Given the description of an element on the screen output the (x, y) to click on. 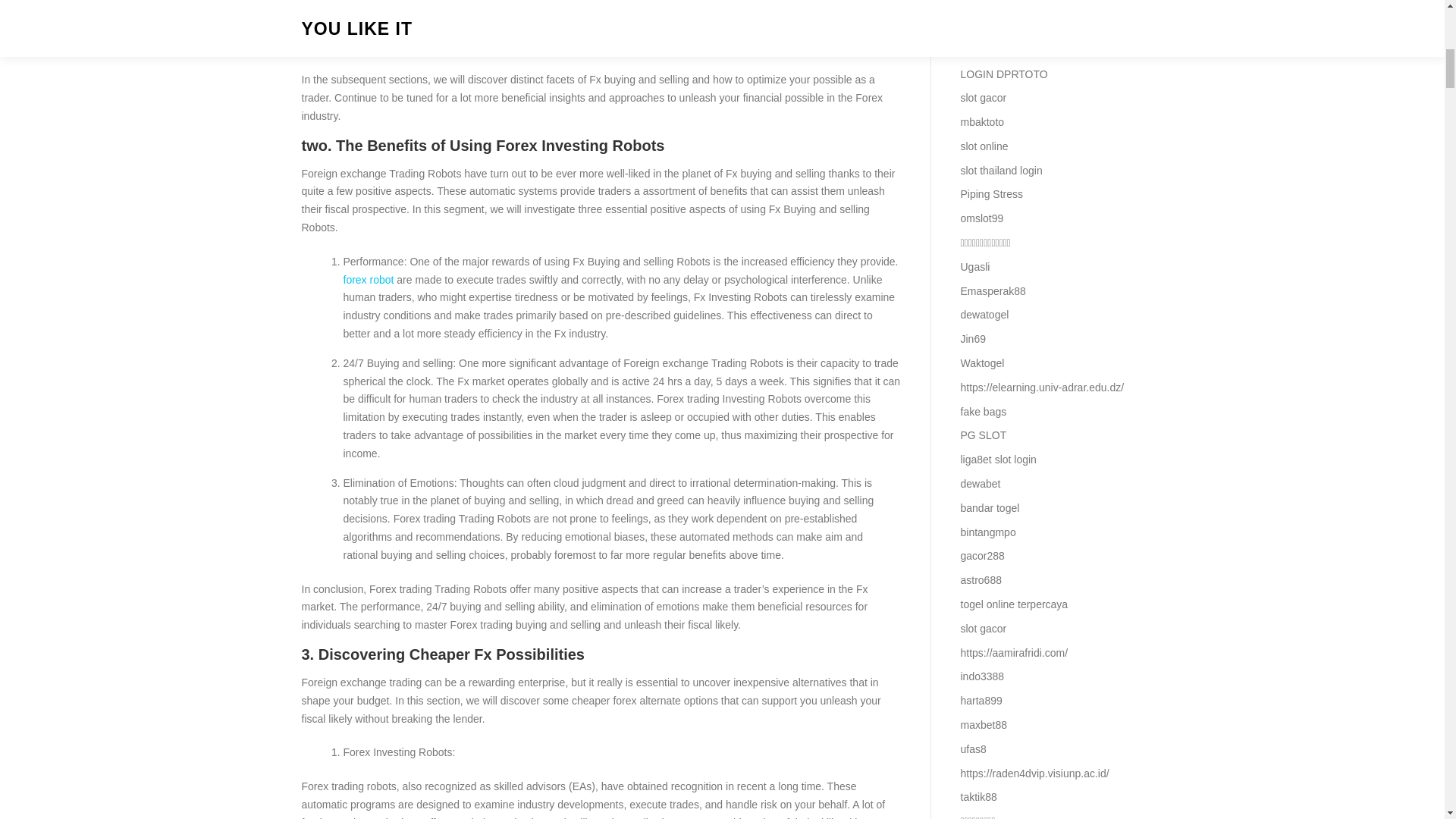
AKSLOT (980, 7)
LOGIN DPRTOTO (1002, 73)
slot online (983, 146)
mbaktoto (981, 121)
omslot99 (981, 218)
slot gacor (982, 97)
Piping Stress (990, 193)
forex robot (367, 279)
slot thailand login (1000, 170)
